Given the description of an element on the screen output the (x, y) to click on. 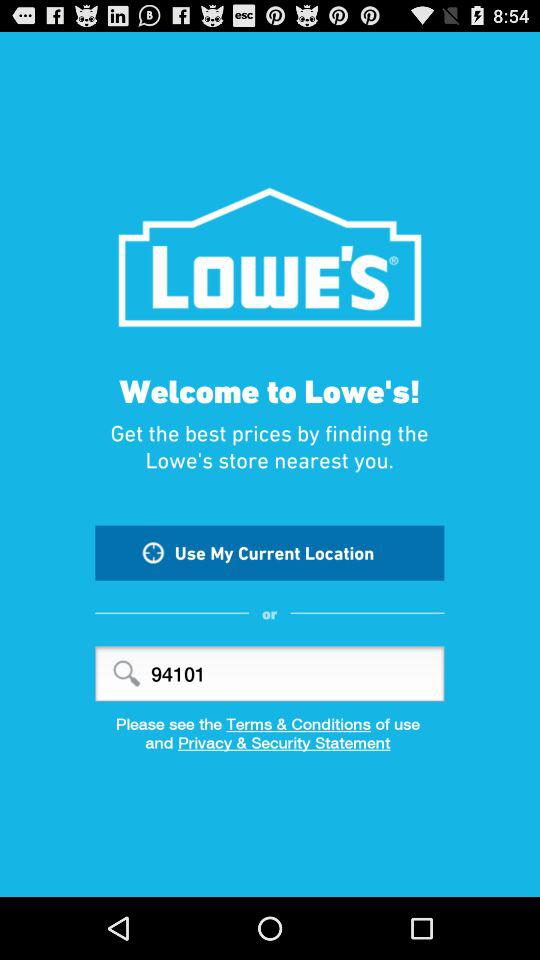
choose icon above the or icon (269, 552)
